Given the description of an element on the screen output the (x, y) to click on. 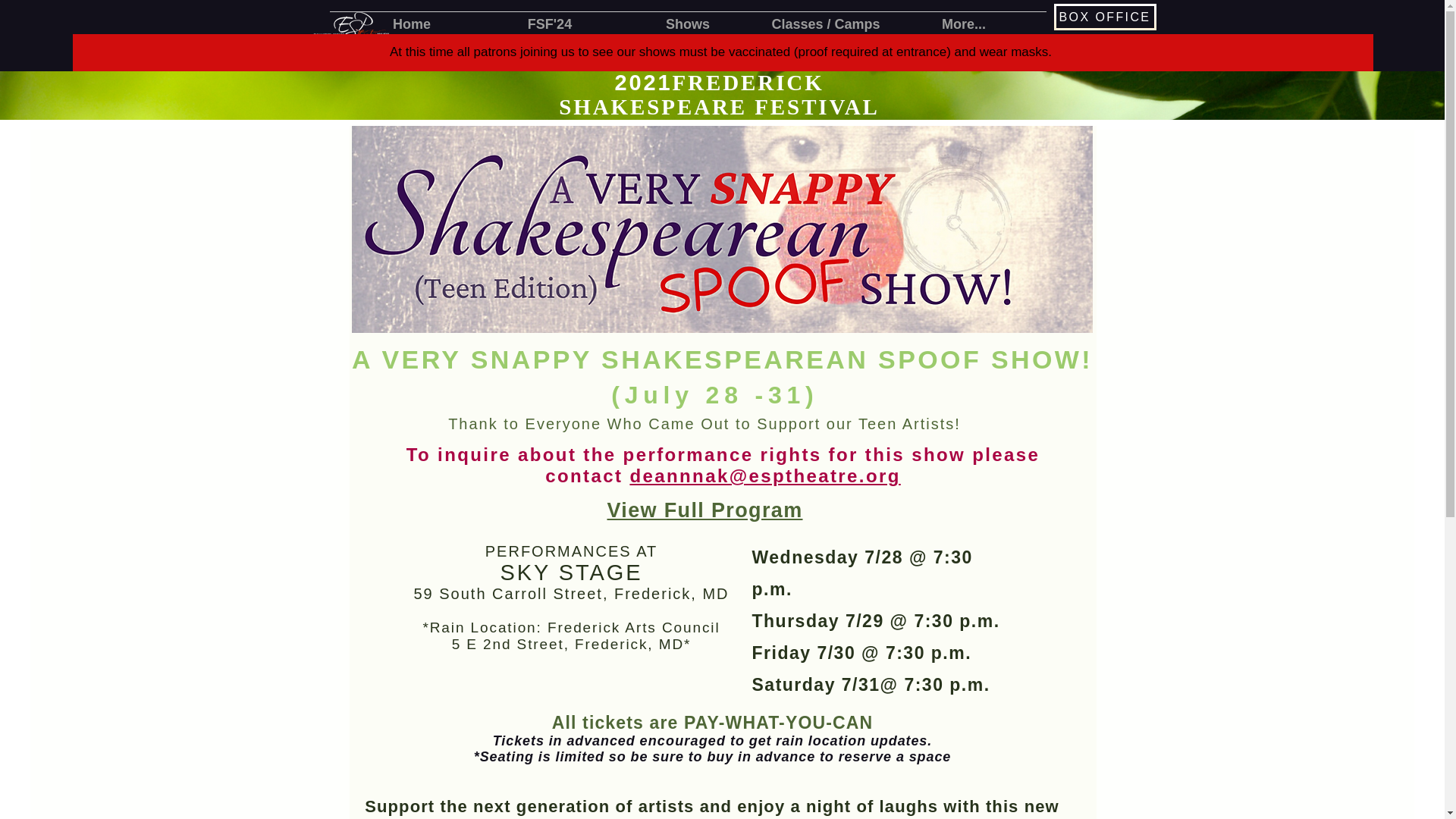
View Full Program (704, 509)
DONATE (1105, 48)
Shows (687, 24)
FSF'24 (549, 24)
Home (411, 24)
BOX OFFICE (1105, 17)
